Given the description of an element on the screen output the (x, y) to click on. 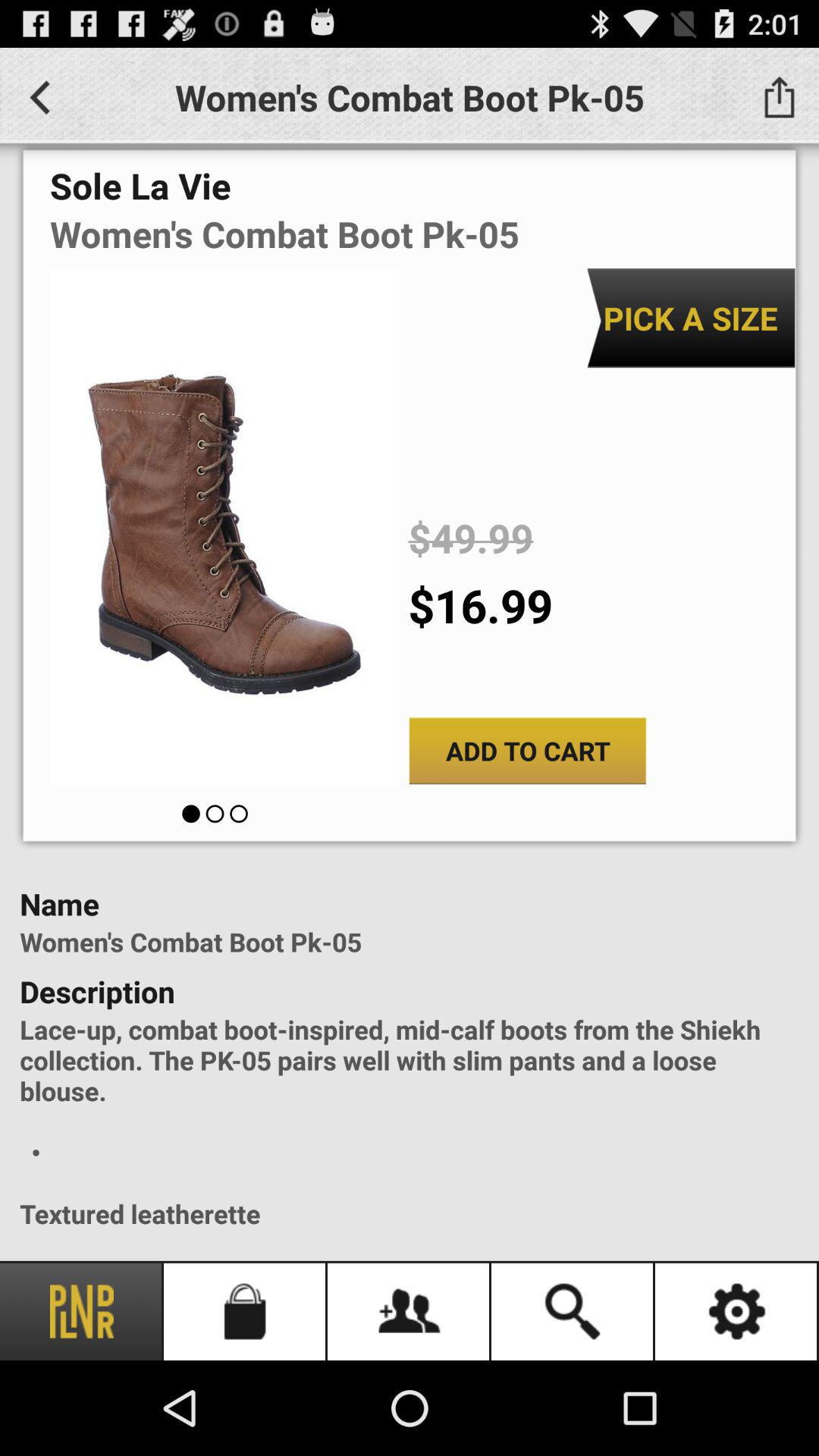
open icon above the name (527, 751)
